Given the description of an element on the screen output the (x, y) to click on. 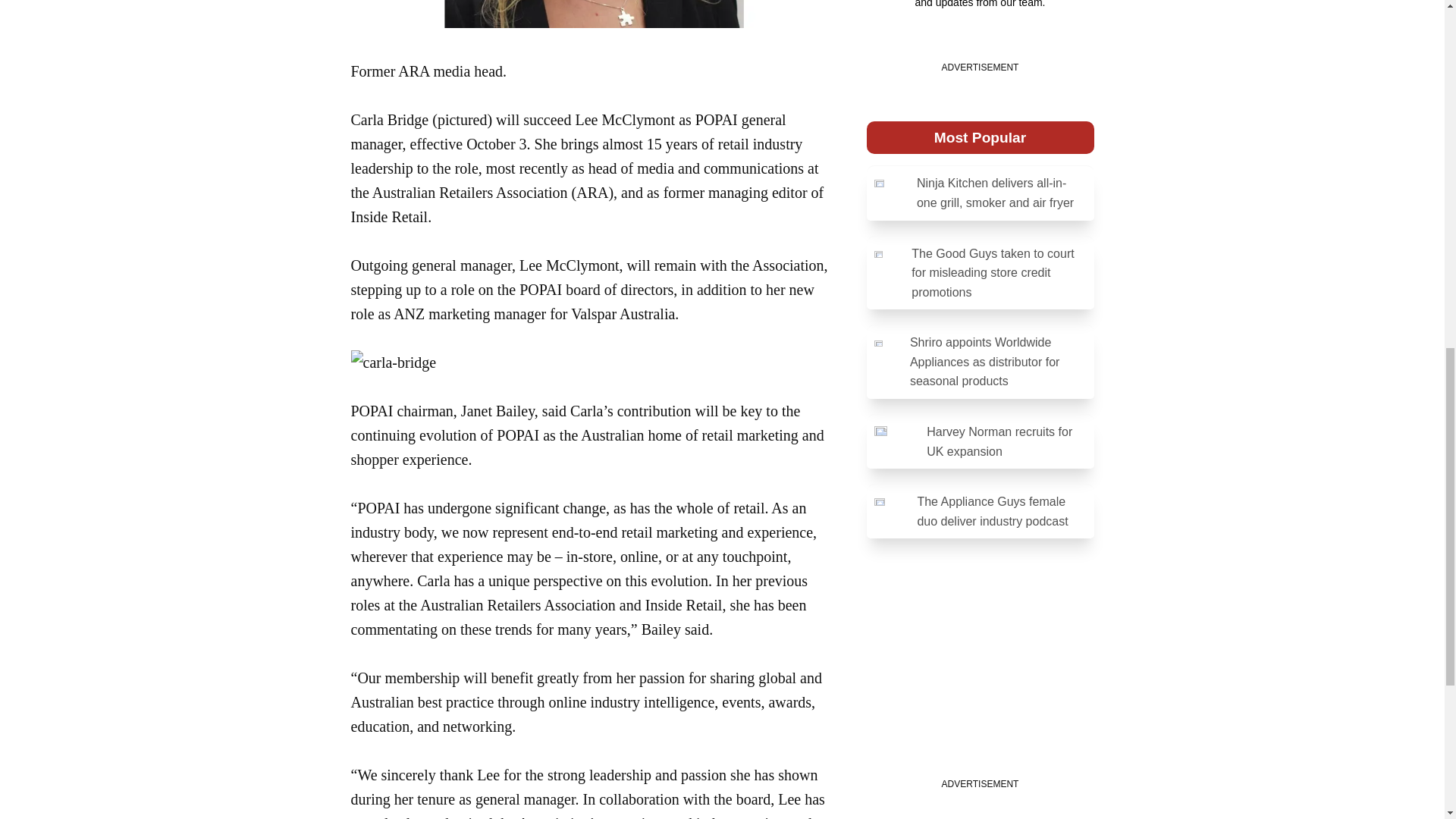
The Appliance Guys female duo deliver industry podcast (979, 511)
Harvey Norman recruits for UK expansion (979, 441)
